Given the description of an element on the screen output the (x, y) to click on. 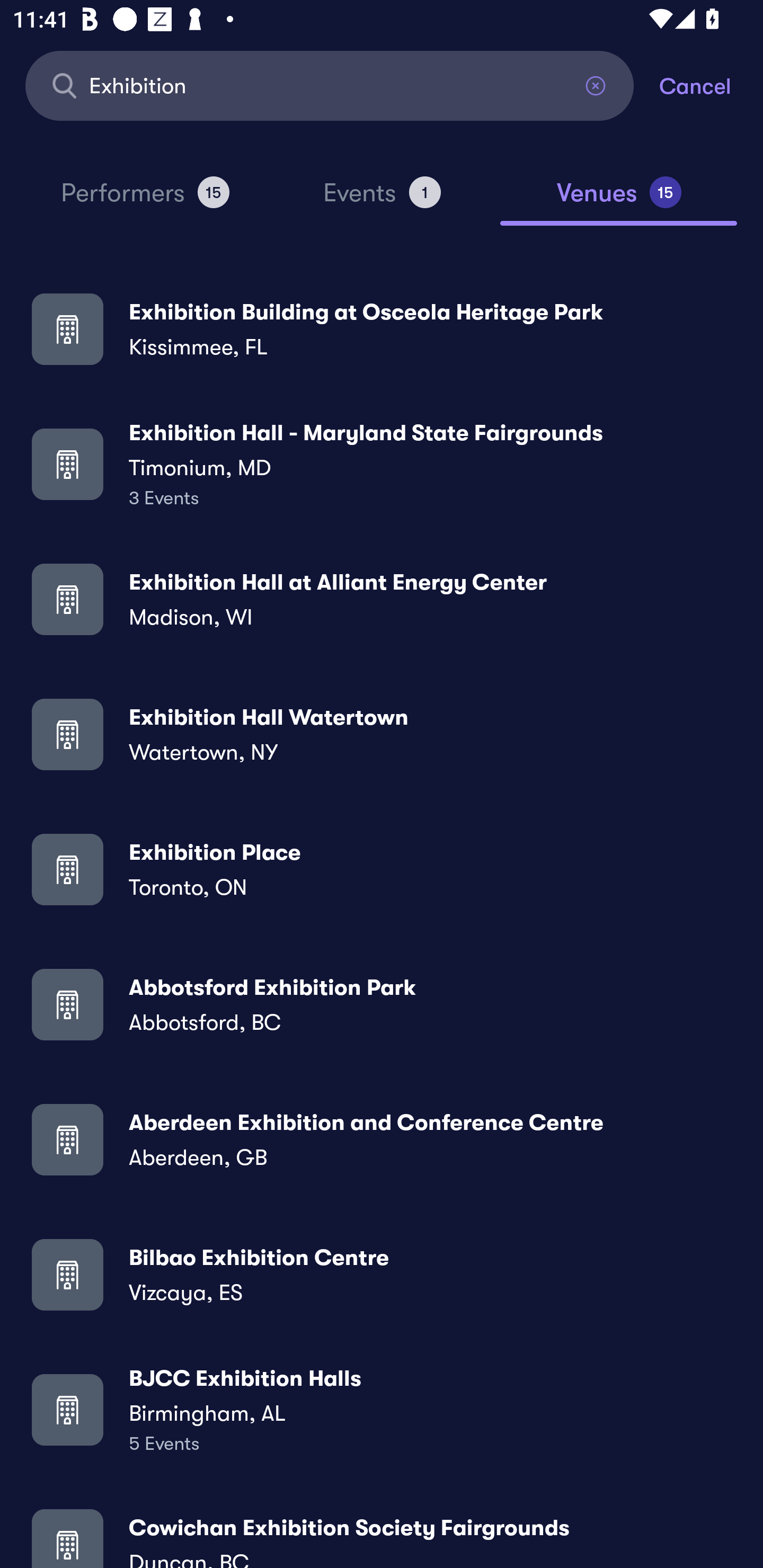
Exhibition Find (329, 85)
Exhibition Find (329, 85)
Cancel (711, 85)
Performers 15 (144, 200)
Events 1 (381, 200)
Venues 15 (618, 200)
Exhibition Hall Watertown Watertown, NY (381, 734)
Exhibition Place Toronto, ON (381, 869)
Abbotsford Exhibition Park Abbotsford, BC (381, 1004)
Bilbao Exhibition Centre Vizcaya, ES (381, 1273)
BJCC Exhibition Halls Birmingham, AL 5 Events (381, 1409)
Cowichan Exhibition Society Fairgrounds Duncan, BC (381, 1532)
